Given the description of an element on the screen output the (x, y) to click on. 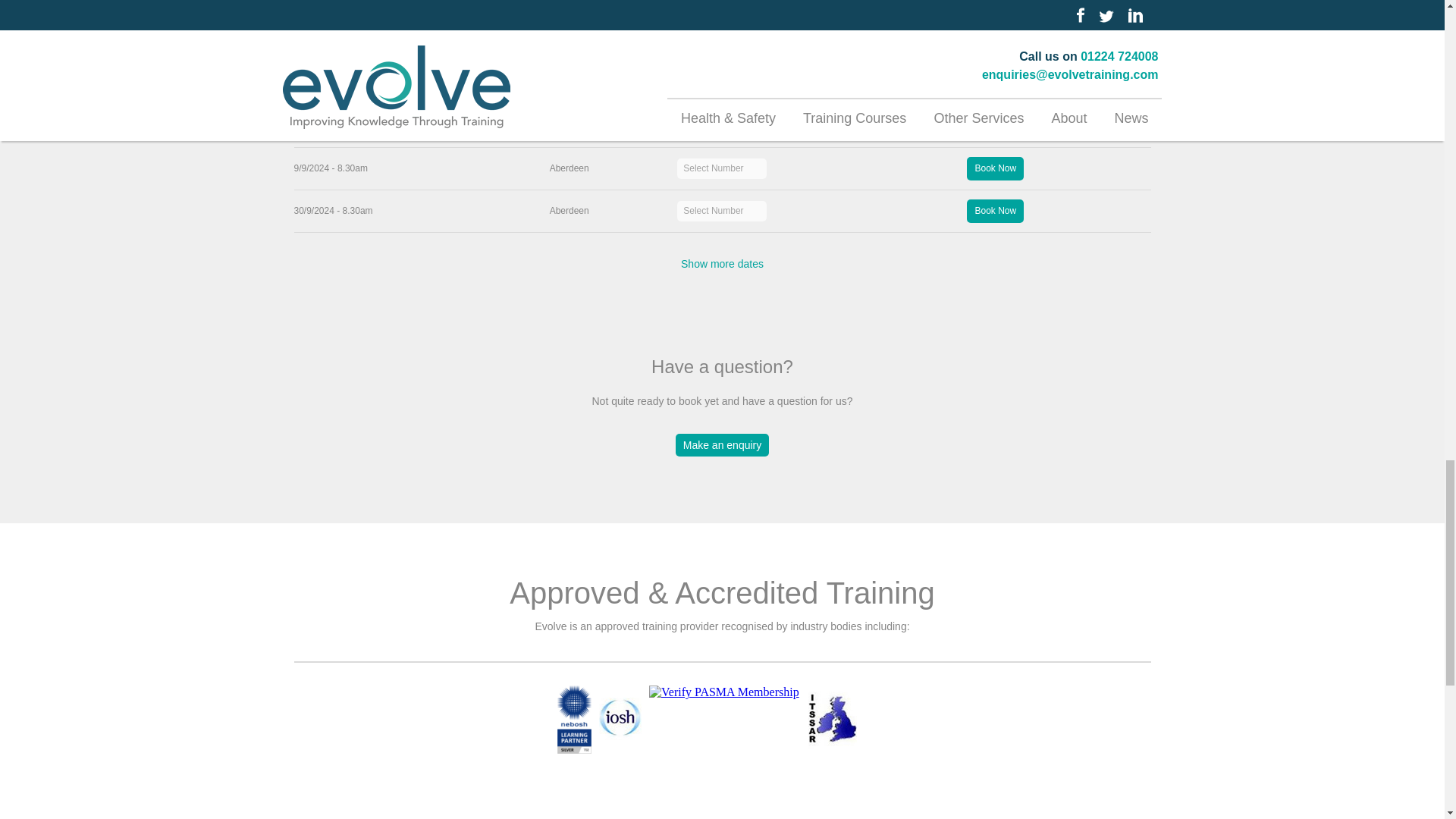
Book Now (994, 210)
Book Now (994, 126)
Book Now (994, 168)
